Given the description of an element on the screen output the (x, y) to click on. 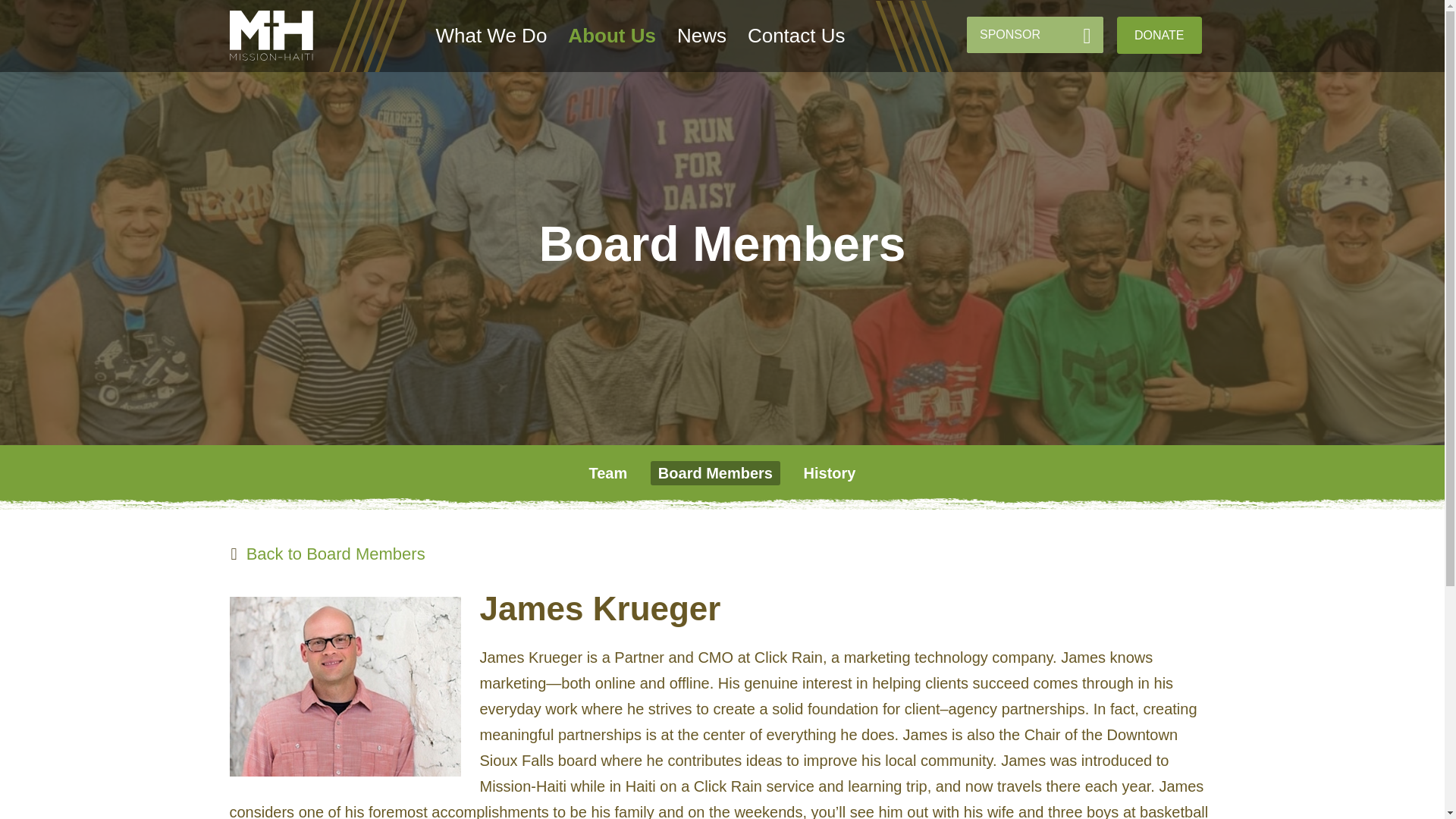
Contact Us (796, 36)
Team (607, 473)
Board Members (715, 473)
DONATE (1158, 35)
Back to Board Members (326, 553)
History (829, 473)
About Us (611, 36)
What We Do (491, 36)
